Given the description of an element on the screen output the (x, y) to click on. 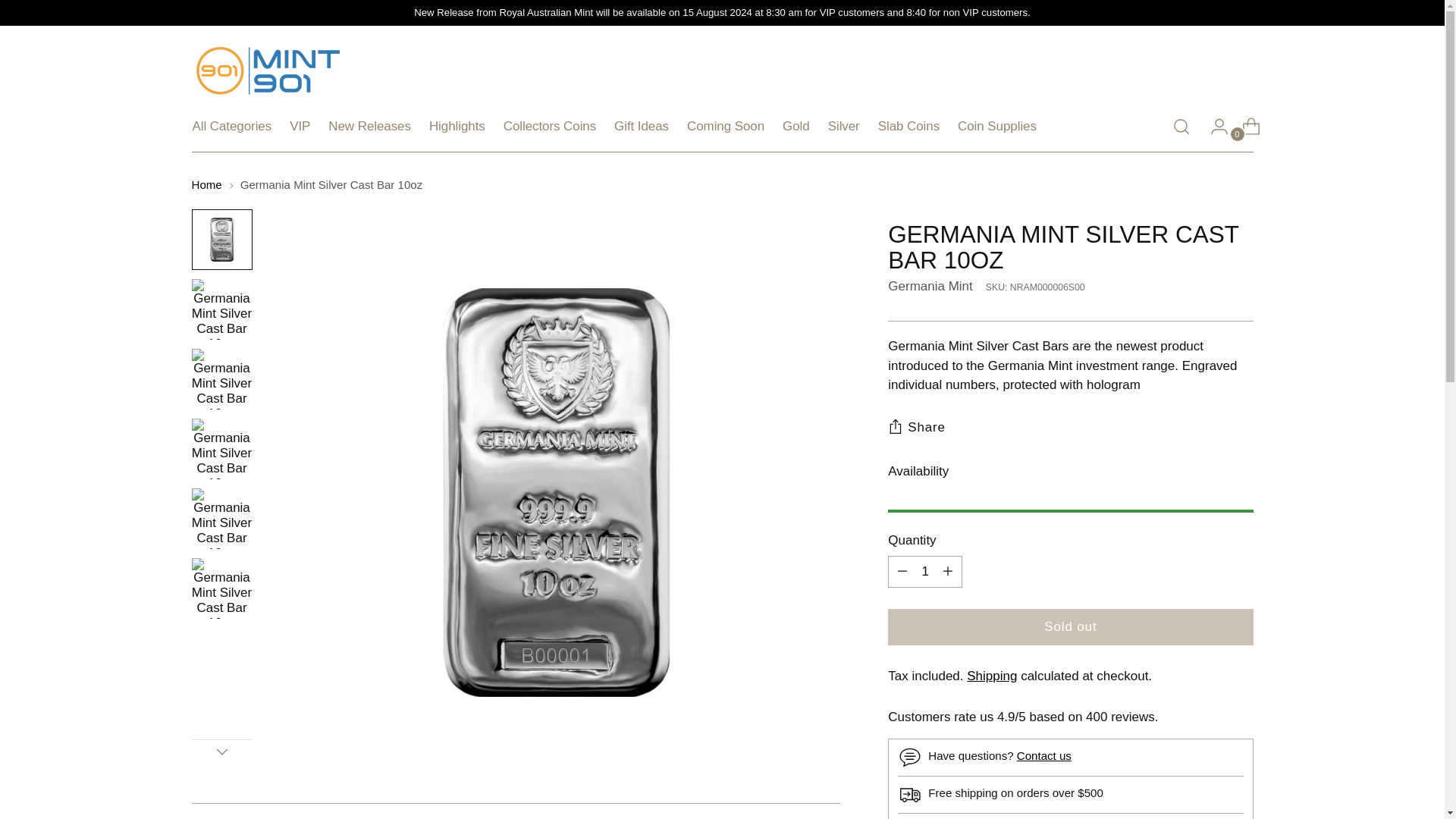
Coming Soon (725, 126)
Contact (1043, 755)
Germania Mint (930, 286)
Collectors Coins (549, 126)
0 (1245, 126)
1 (925, 571)
New Releases (369, 126)
Coin Supplies (997, 126)
Highlights (456, 126)
